Given the description of an element on the screen output the (x, y) to click on. 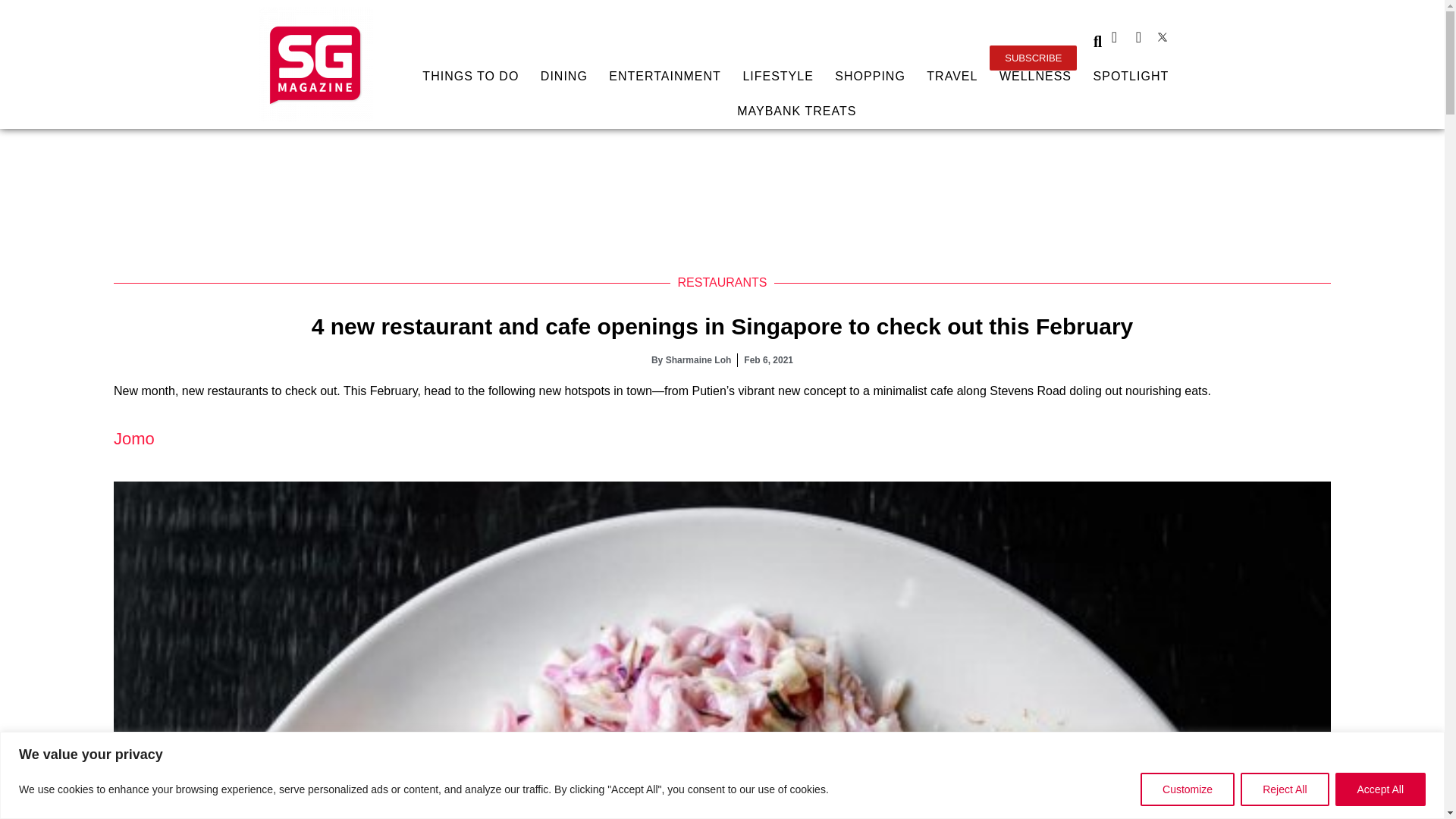
THINGS TO DO (470, 76)
Accept All (1380, 788)
Customize (1187, 788)
MAYBANK TREATS (796, 111)
ENTERTAINMENT (664, 76)
LIFESTYLE (778, 76)
DINING (563, 76)
SUBSCRIBE (1033, 57)
SPOTLIGHT (1130, 76)
Reject All (1283, 788)
SG MAG LOGO (315, 64)
TRAVEL (952, 76)
WELLNESS (1035, 76)
SHOPPING (870, 76)
